Given the description of an element on the screen output the (x, y) to click on. 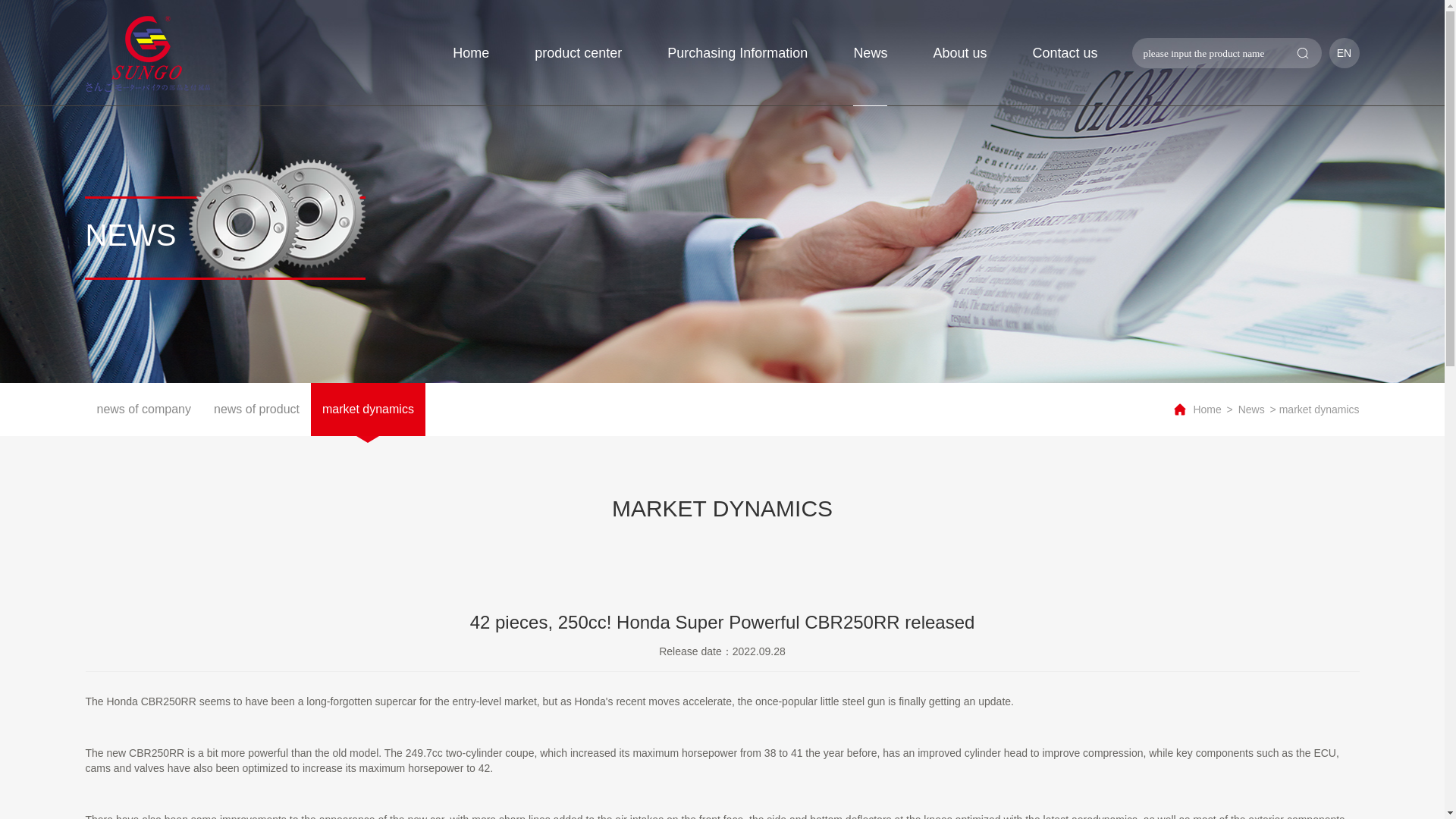
market dynamics (368, 409)
Purchasing Information (737, 53)
news of company (143, 409)
news of product (256, 409)
